Given the description of an element on the screen output the (x, y) to click on. 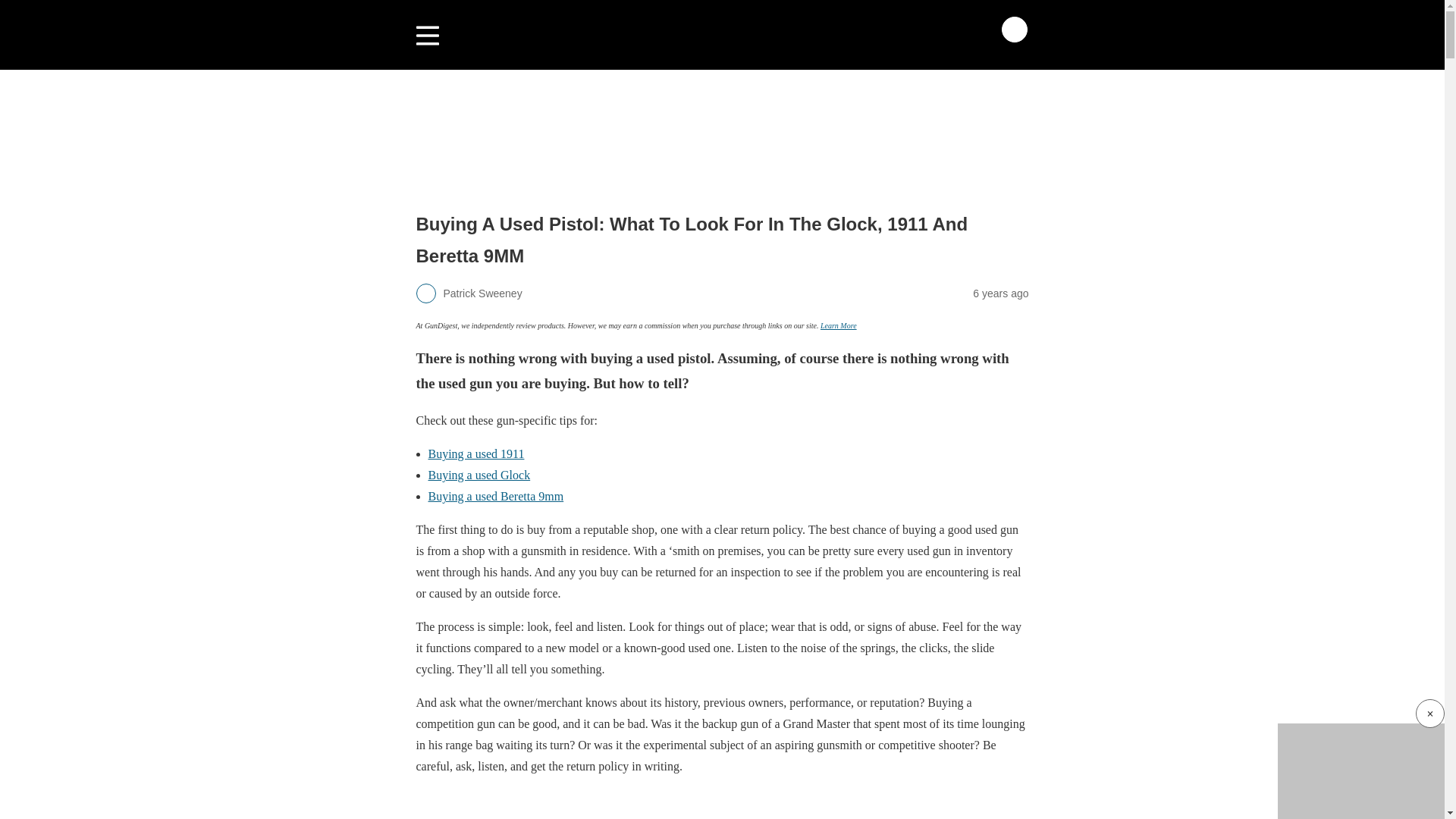
Learn More (839, 325)
Buying a used 1911 (476, 453)
Buying a used Beretta 9mm (495, 495)
Buying a used Glock (478, 474)
